Given the description of an element on the screen output the (x, y) to click on. 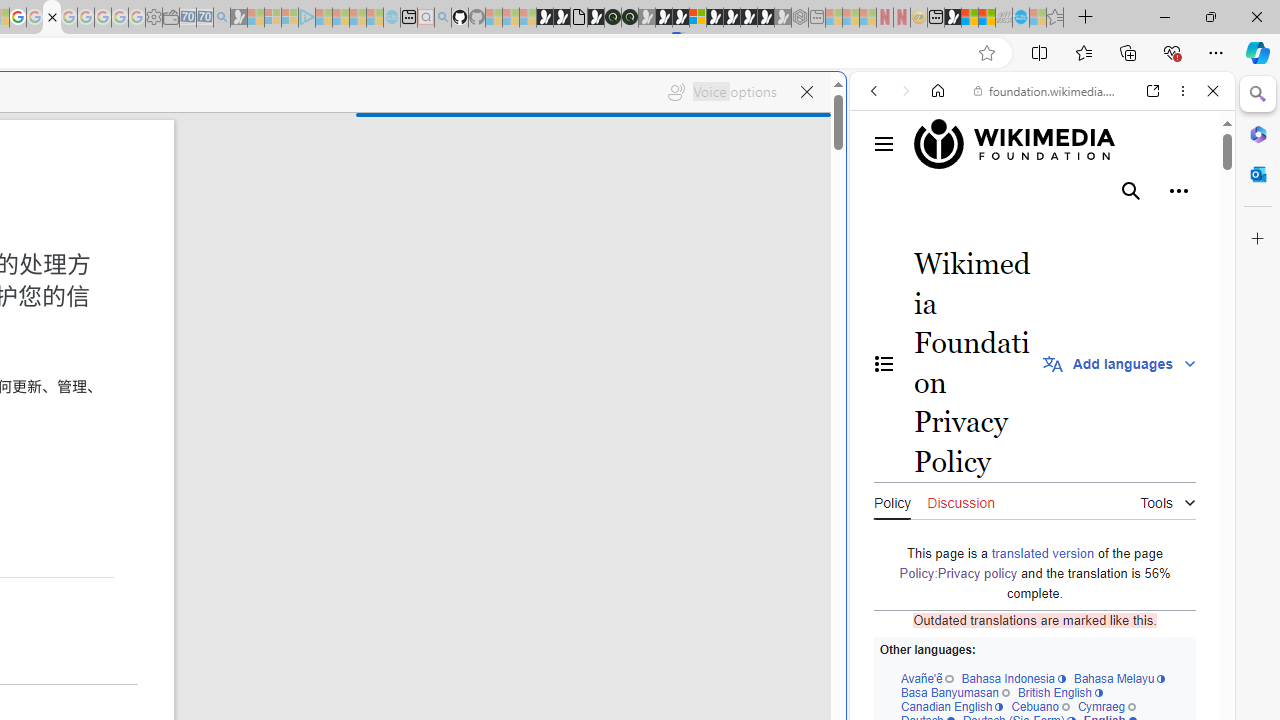
Frequently visited (418, 265)
Wikimedia Foundation Governance Wiki (1044, 143)
foundation.wikimedia.org (1045, 90)
Home | Sky Blue Bikes - Sky Blue Bikes - Sleeping (392, 17)
Cebuano (1040, 706)
Discussion (960, 500)
